Given the description of an element on the screen output the (x, y) to click on. 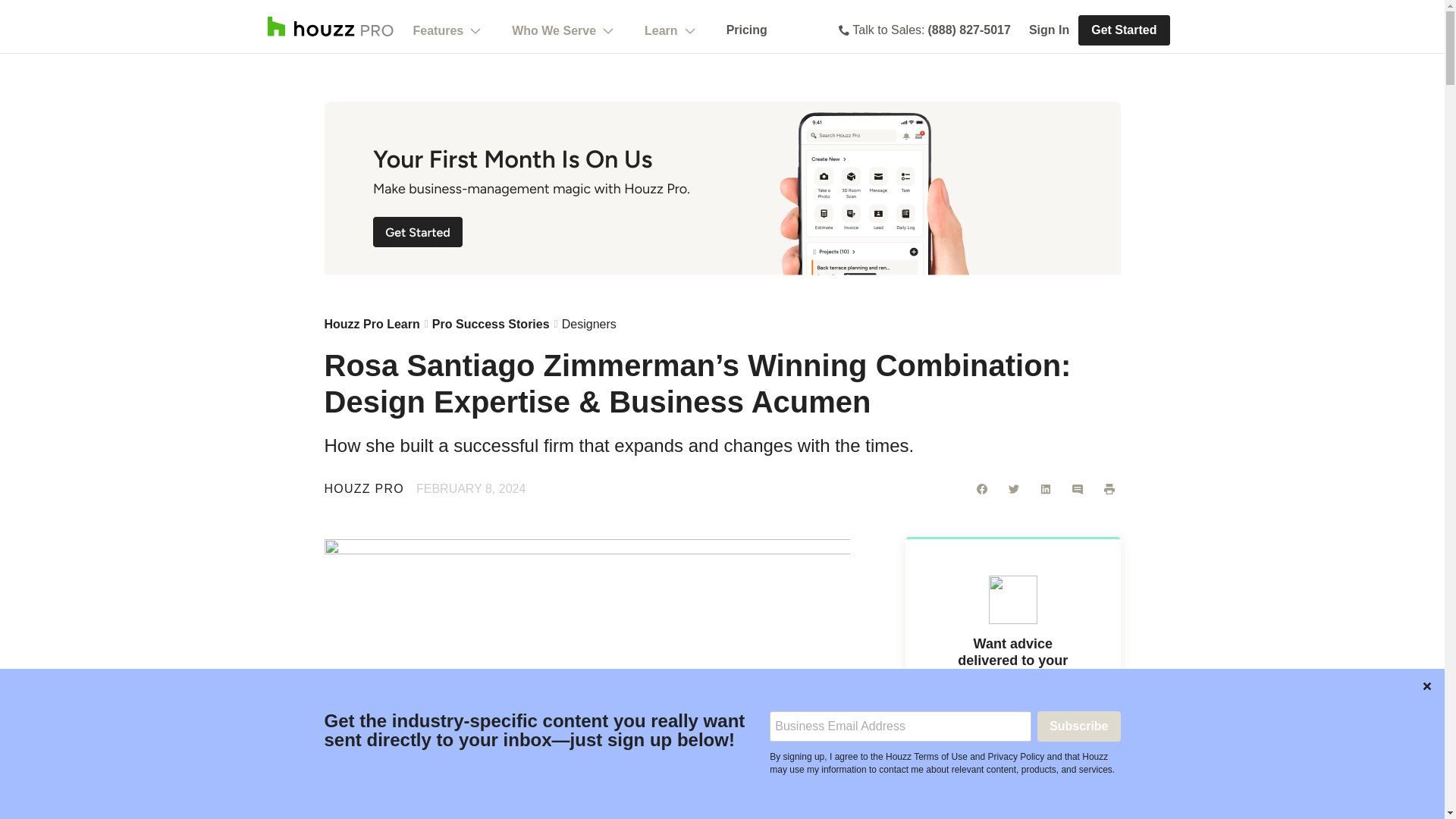
Learn (669, 30)
Designers (588, 323)
Sign Up Now (1012, 766)
Terms of Use (1013, 794)
Houzz Pro Learn (372, 323)
Get Started (1123, 30)
Who We Serve (562, 30)
Pro Success Stories (491, 323)
Pricing (746, 30)
Features (446, 30)
Pro Success Stories (491, 323)
Designers (588, 323)
Houzz Pro Learn (372, 323)
Privacy Policy (988, 801)
Sign In (1048, 30)
